Given the description of an element on the screen output the (x, y) to click on. 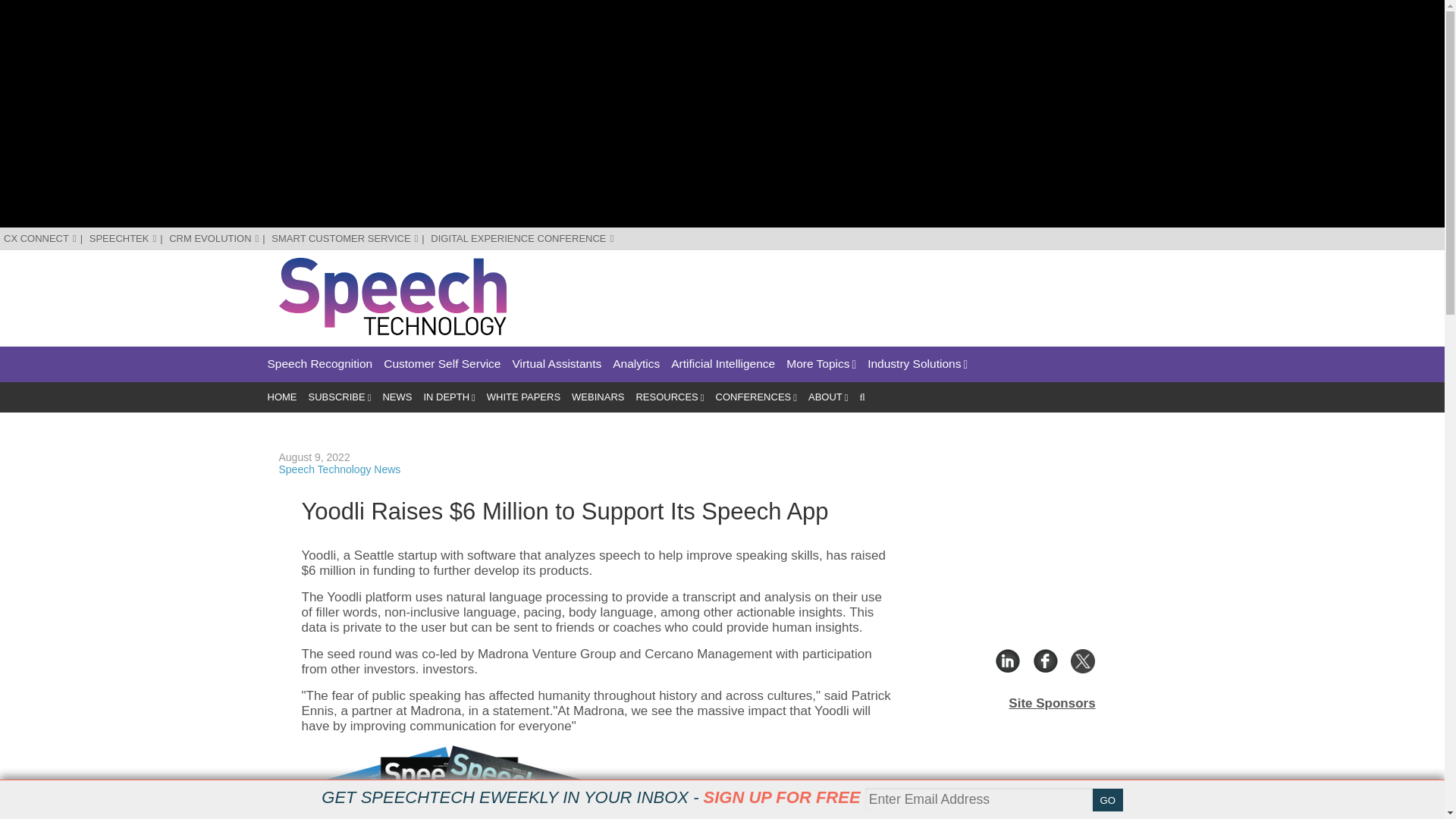
CX CONNECT (40, 238)
Virtual Assistants (556, 364)
Analytics (635, 364)
Speech Recognition (319, 364)
SPEECHTEK (122, 238)
More Topics (821, 364)
Industry Solutions (917, 364)
Speech Recognition (319, 364)
Virtual Assistants (556, 364)
GO (1107, 799)
CRM EVOLUTION (213, 238)
3rd party ad content (890, 291)
Customer Self Service (442, 364)
GET SPEECHTECH EWEEKLY IN YOUR INBOX - SIGN UP FOR FREE (590, 797)
